Given the description of an element on the screen output the (x, y) to click on. 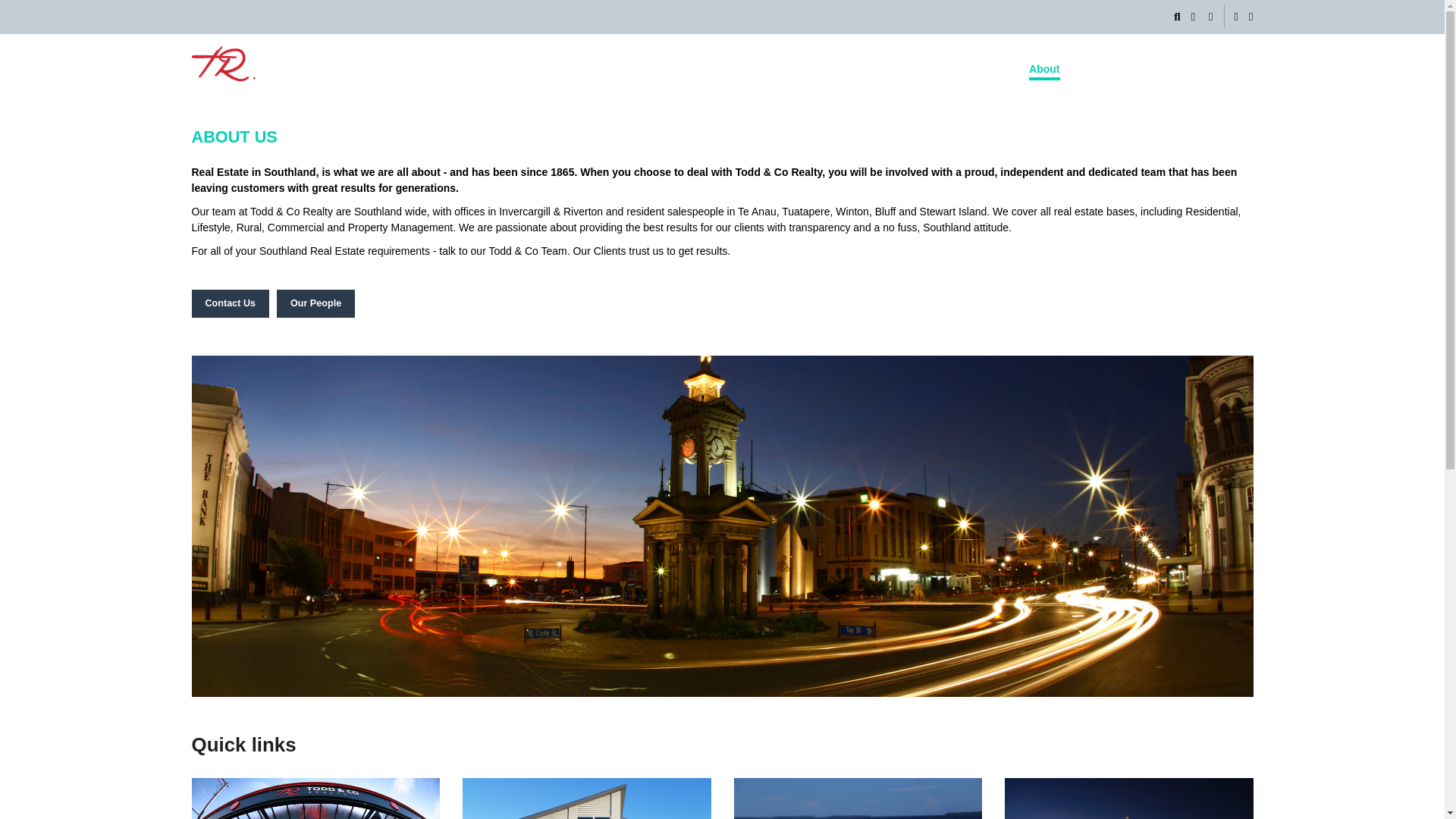
Blog (1148, 68)
Our People (981, 68)
Our People (315, 303)
Contact (1098, 68)
Free Appraisal (1216, 68)
About (1044, 68)
Home (791, 68)
Contact Us (228, 303)
Rental (918, 68)
Sell (873, 68)
Buy (834, 68)
